Given the description of an element on the screen output the (x, y) to click on. 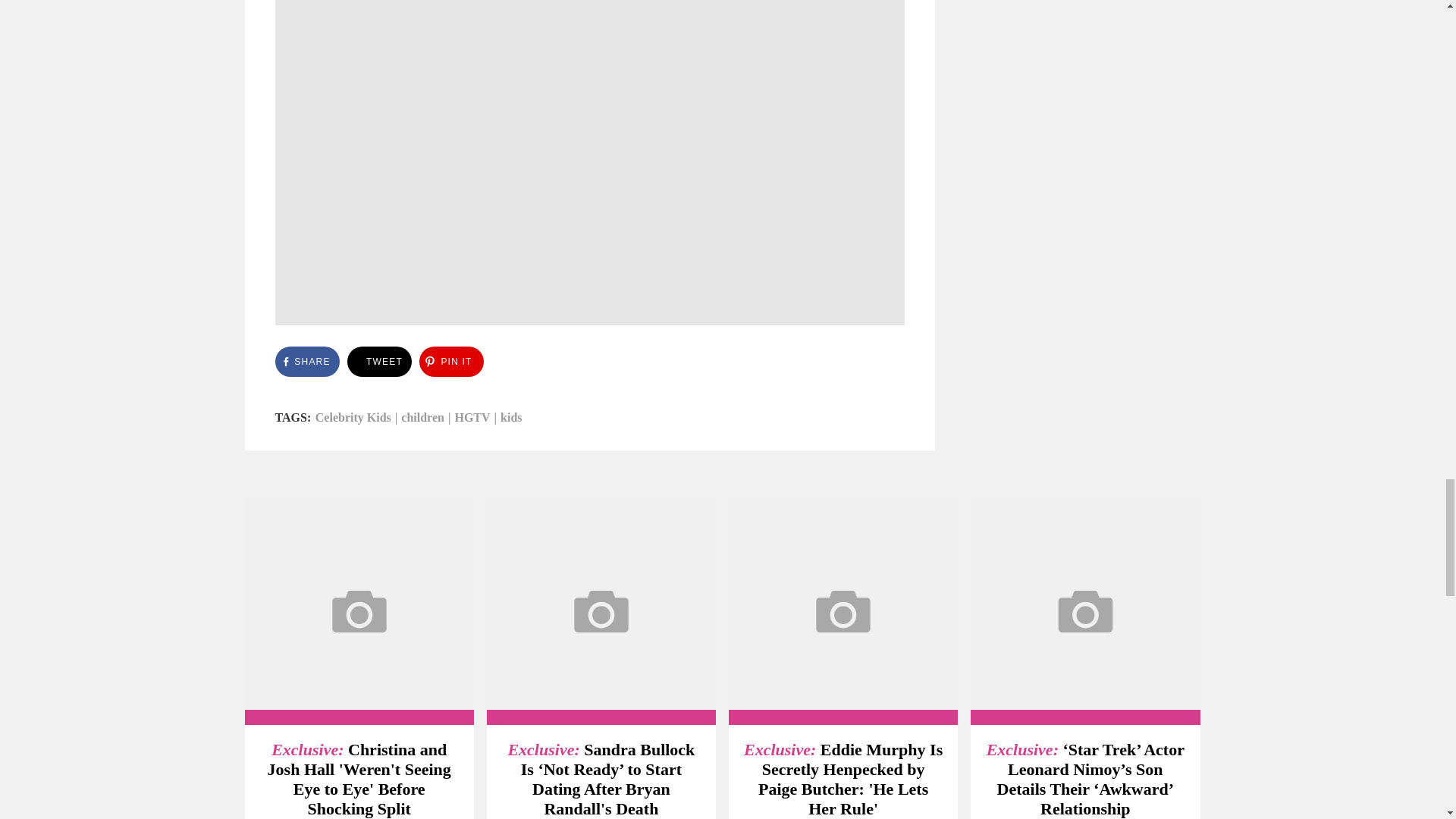
Click to share on Facebook (307, 361)
Click to share on Pinterest (451, 361)
Click to share on Twitter (379, 361)
